Given the description of an element on the screen output the (x, y) to click on. 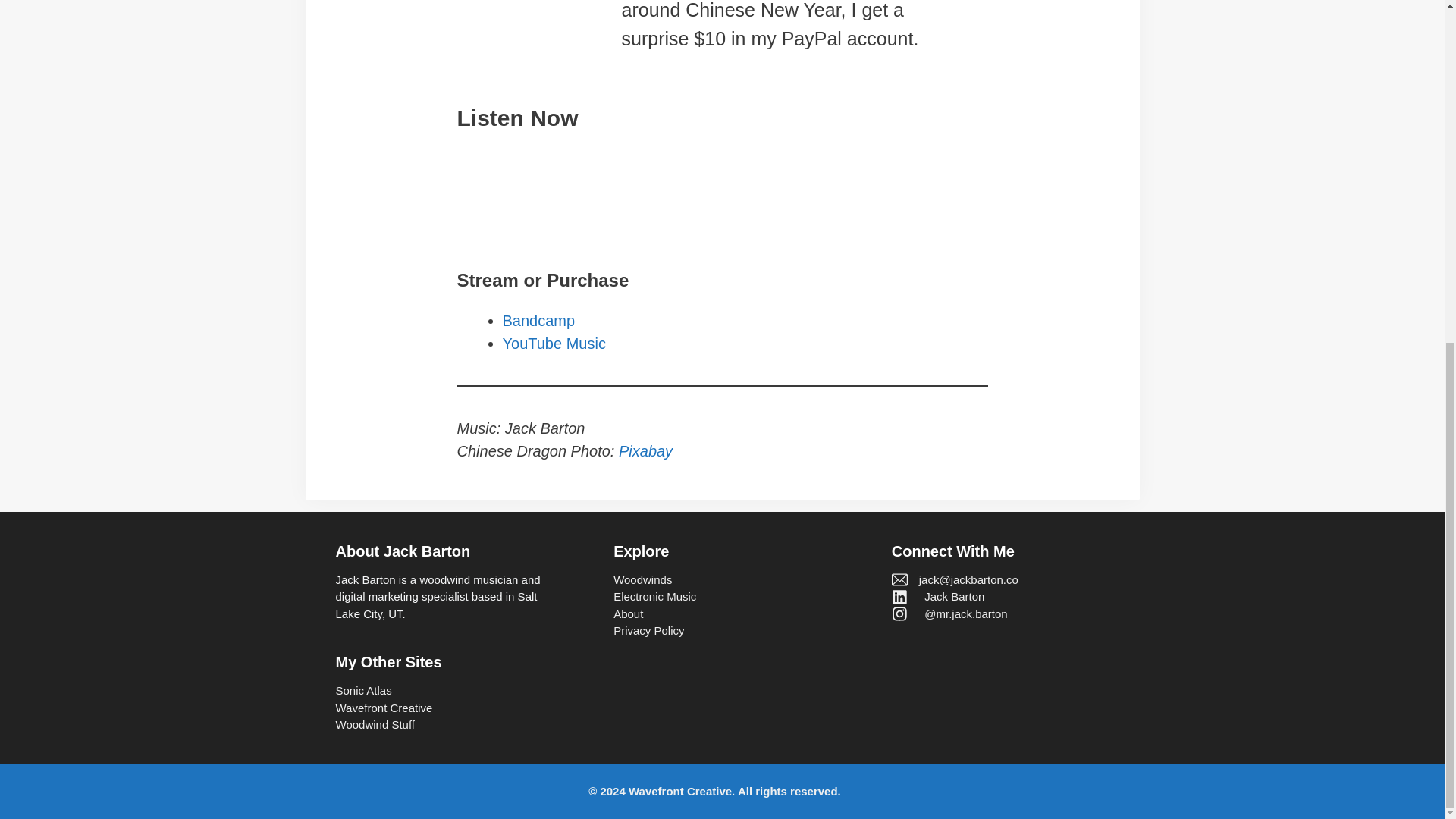
Woodwinds (641, 579)
Sonic Atlas (362, 691)
Pixabay (645, 450)
About (627, 614)
YouTube Music (553, 342)
Jack Barton (954, 595)
Privacy Policy (648, 630)
Electronic Music (653, 597)
Bandcamp (538, 320)
Wavefront Creative (383, 708)
Woodwind Stuff (374, 724)
